Given the description of an element on the screen output the (x, y) to click on. 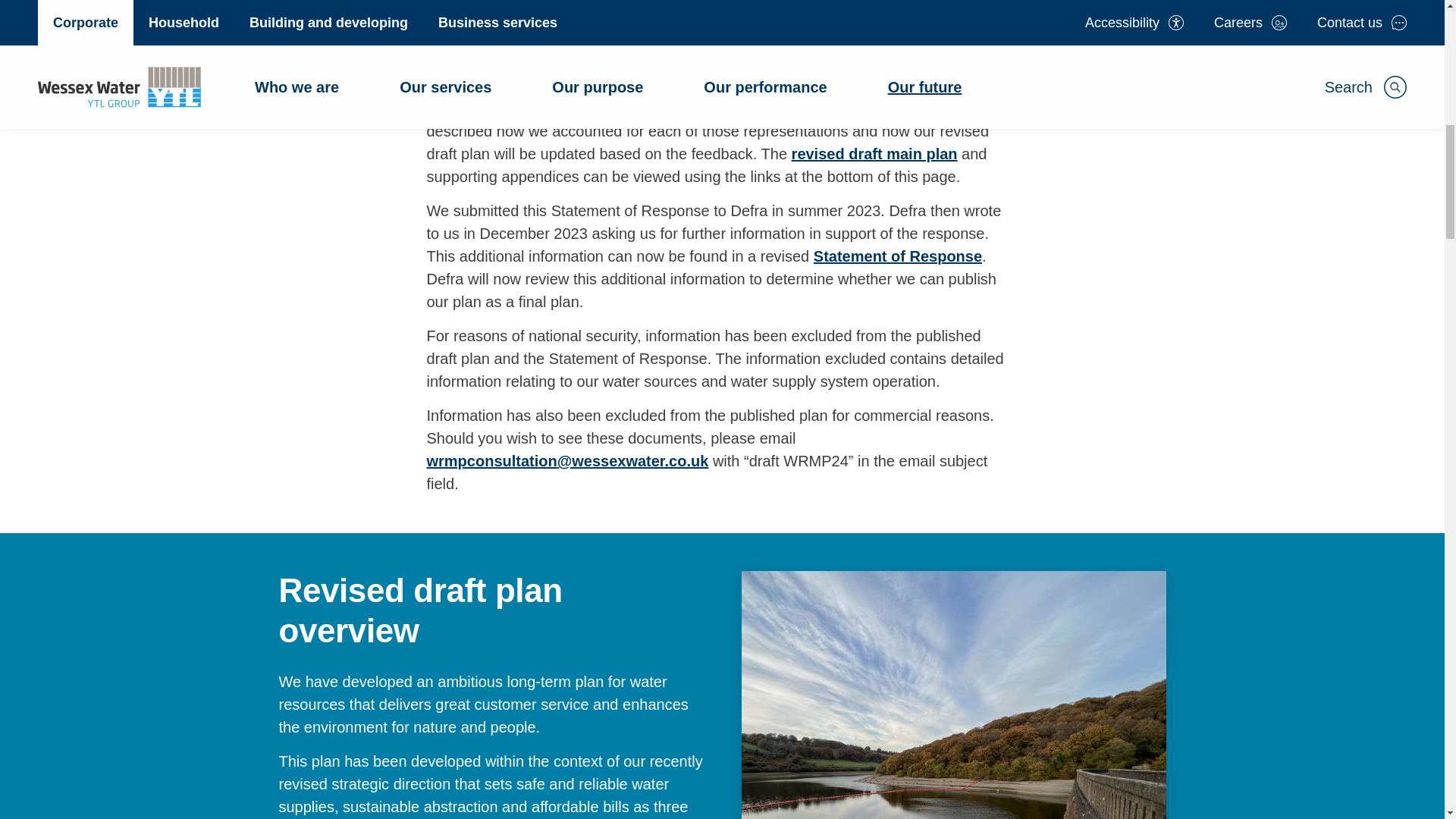
WRMP24 Main Technical Plan Public Consultation (875, 153)
